Given the description of an element on the screen output the (x, y) to click on. 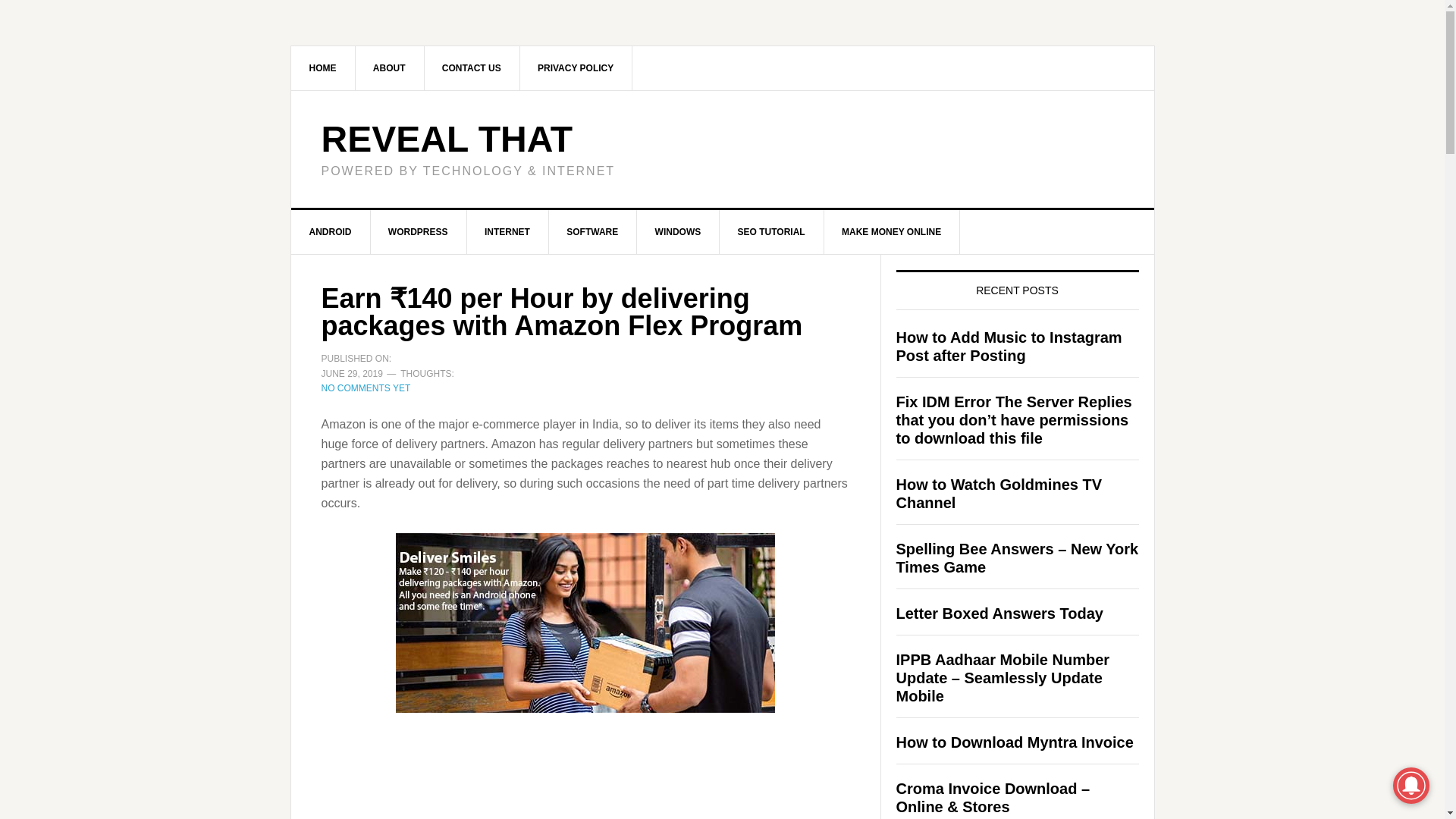
NO COMMENTS YET (365, 388)
INTERNET (506, 231)
How to Download Myntra Invoice (1015, 742)
CONTACT US (471, 67)
REVEAL THAT (447, 138)
How to Add Music to Instagram Post after Posting (1009, 346)
MAKE MONEY ONLINE (891, 231)
Advertisement (585, 769)
Letter Boxed Answers Today (999, 613)
PRIVACY POLICY (575, 67)
HOME (323, 67)
WORDPRESS (418, 231)
How to Watch Goldmines TV Channel (999, 493)
SOFTWARE (592, 231)
SEO TUTORIAL (771, 231)
